Given the description of an element on the screen output the (x, y) to click on. 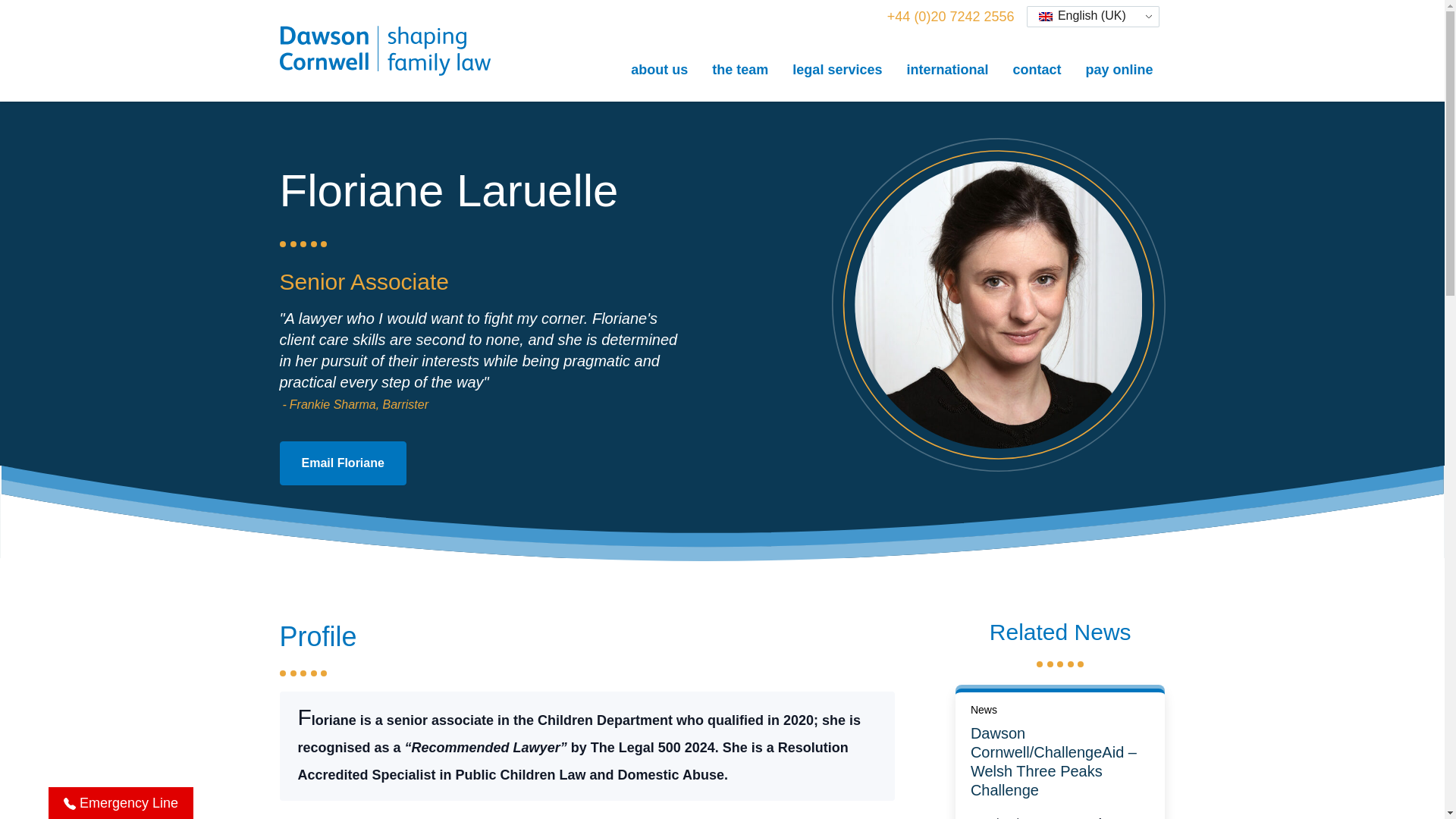
legal services (836, 69)
about us (659, 69)
the team (740, 69)
